Given the description of an element on the screen output the (x, y) to click on. 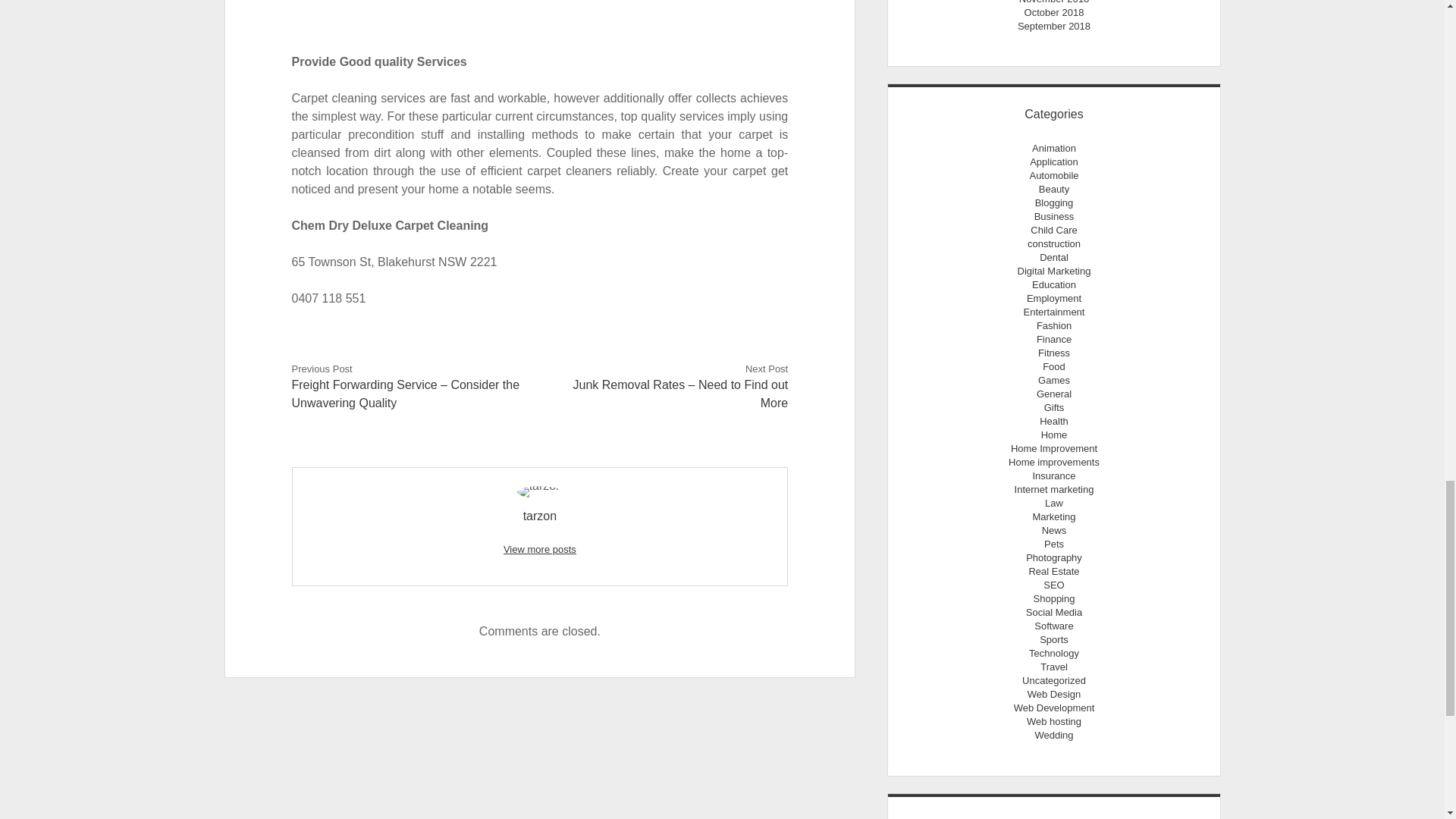
View more posts (539, 549)
